Given the description of an element on the screen output the (x, y) to click on. 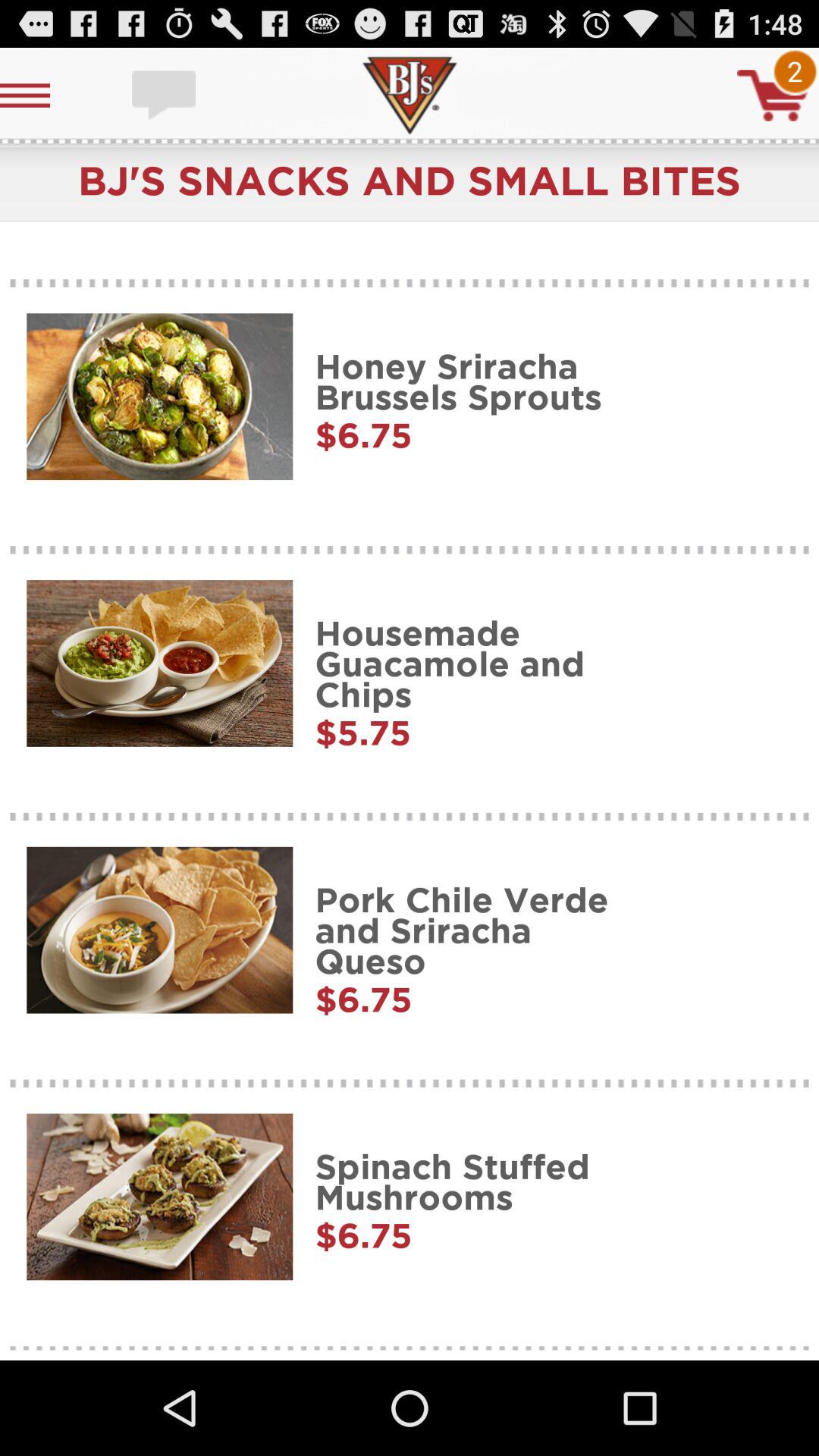
cloud notification (165, 95)
